Given the description of an element on the screen output the (x, y) to click on. 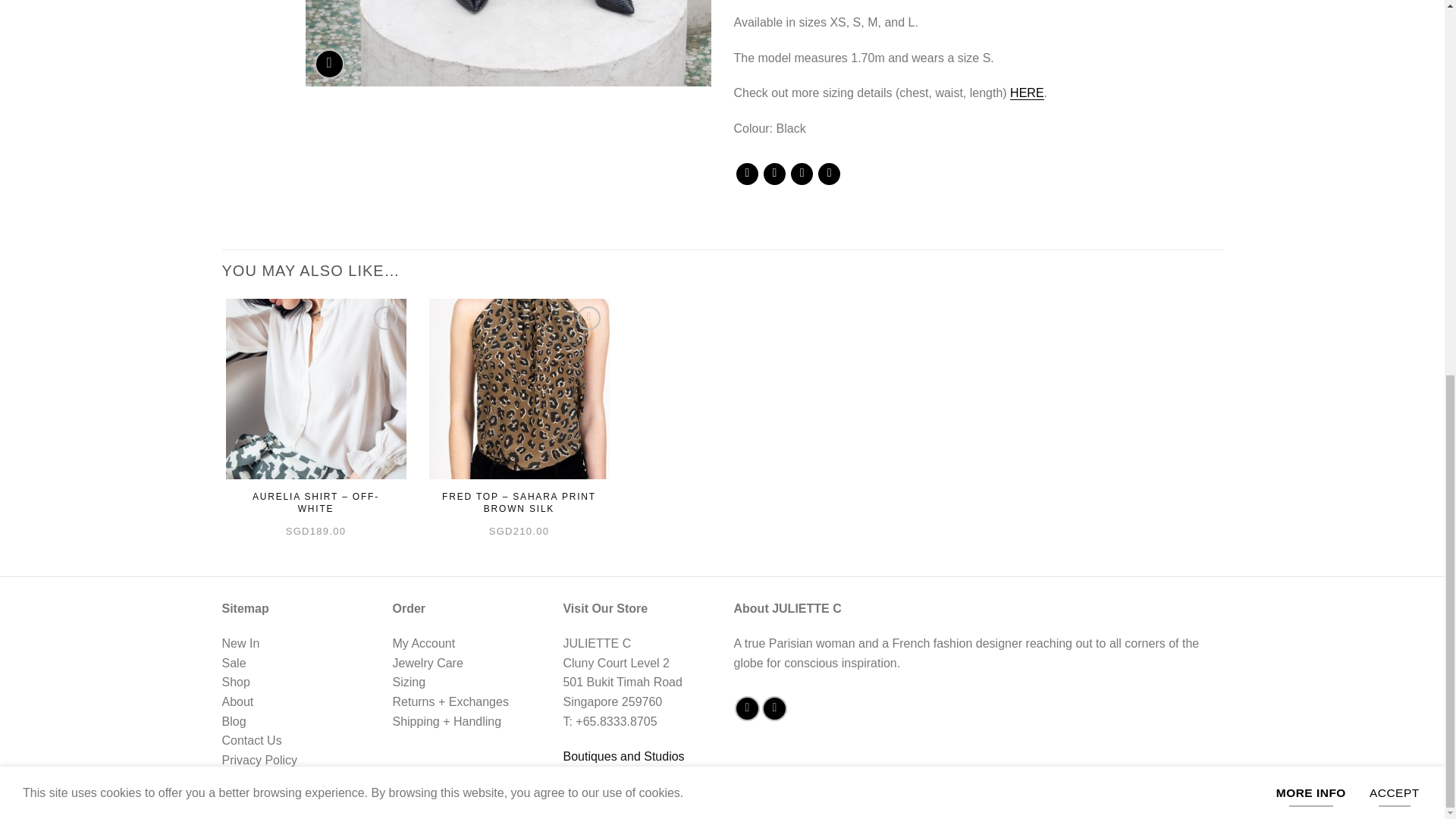
Zoom (328, 63)
Share on Twitter (774, 173)
Pin on Pinterest (828, 173)
Email to a Friend (801, 173)
Share on Facebook (747, 173)
